Given the description of an element on the screen output the (x, y) to click on. 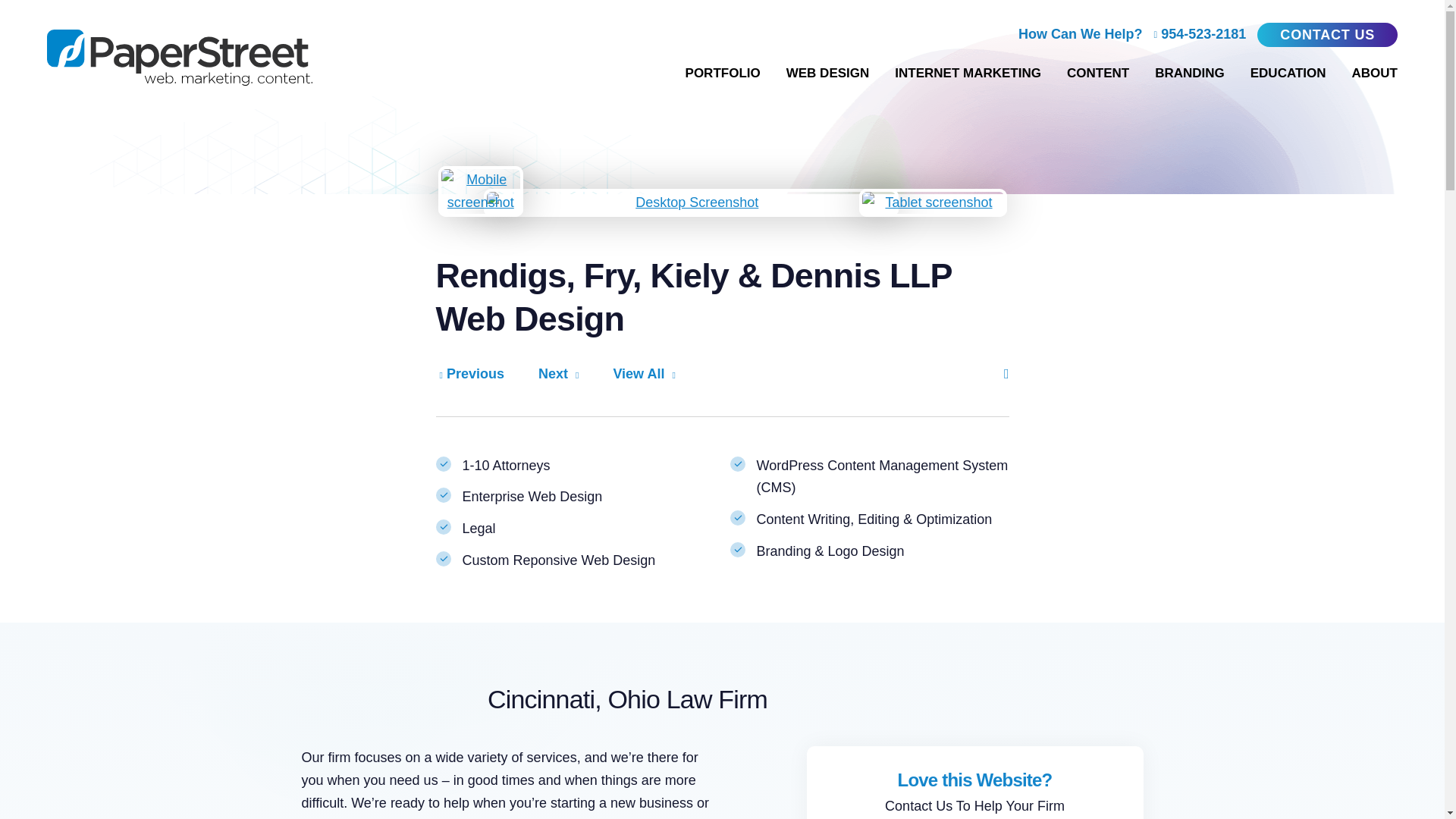
954-523-2181 (1200, 34)
PORTFOLIO (722, 73)
CONTENT (1098, 73)
CONTACT US (1327, 34)
INTERNET MARKETING (968, 73)
WEB DESIGN (827, 73)
